Given the description of an element on the screen output the (x, y) to click on. 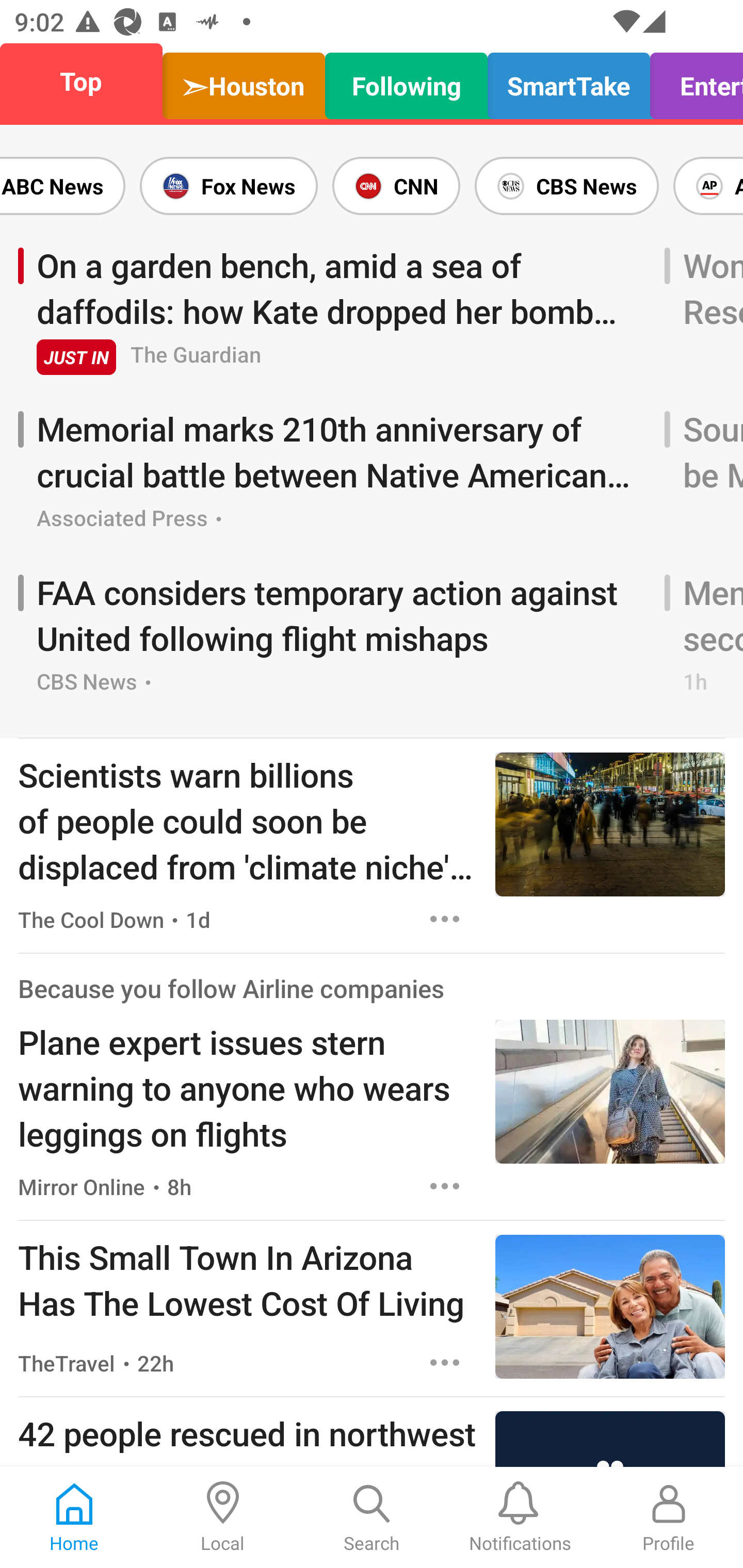
Top (86, 81)
➣Houston (243, 81)
Following (406, 81)
SmartTake (569, 81)
Entertain (690, 81)
ABC News (66, 185)
Fox News (228, 185)
CNN (396, 185)
CBS News (566, 185)
JUST IN (75, 356)
Options (444, 918)
Because you follow Airline companies (230, 987)
Options (444, 1186)
Options (444, 1362)
Local (222, 1517)
Search (371, 1517)
Notifications (519, 1517)
Profile (668, 1517)
